Given the description of an element on the screen output the (x, y) to click on. 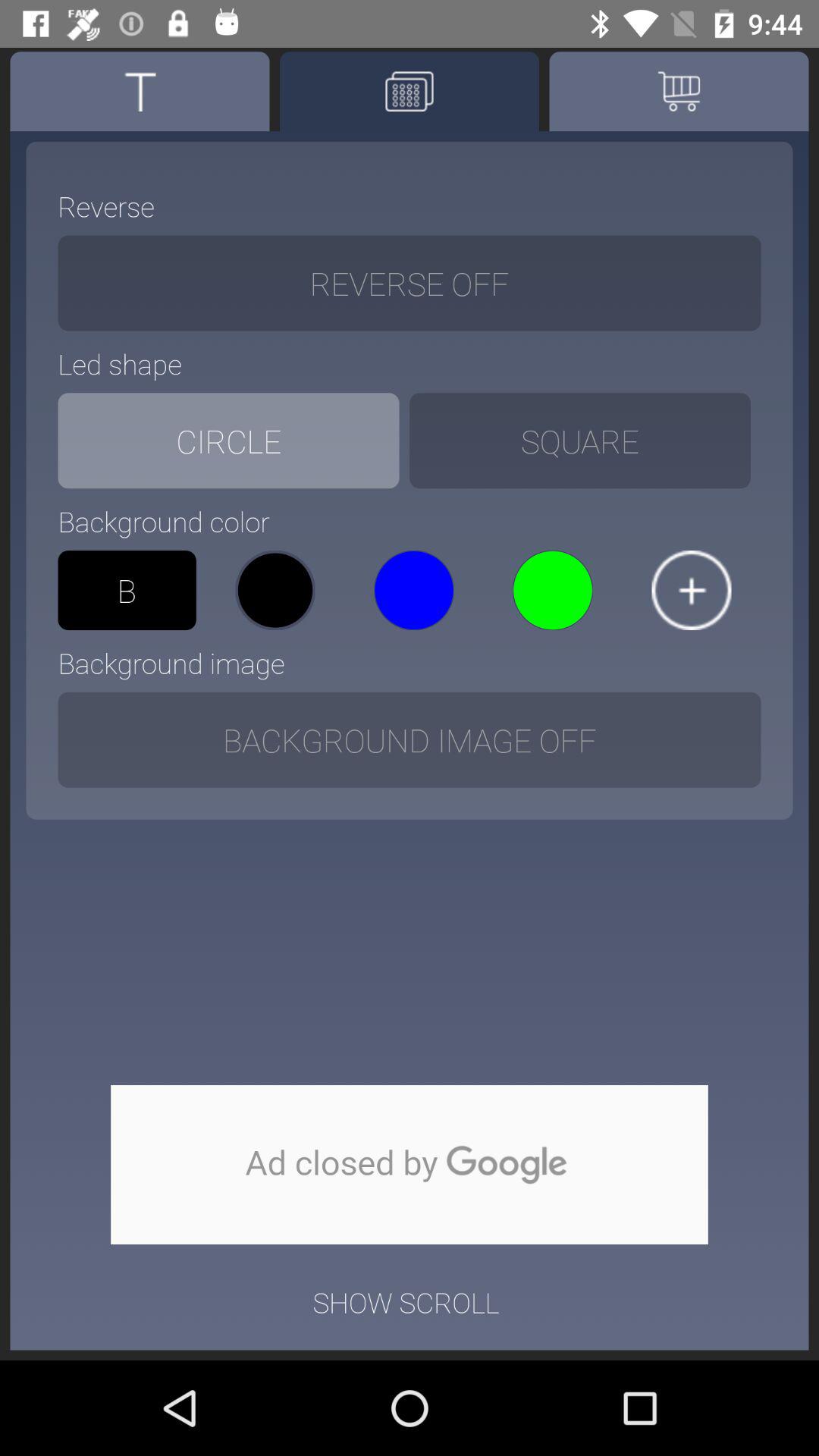
open cart (678, 91)
